Given the description of an element on the screen output the (x, y) to click on. 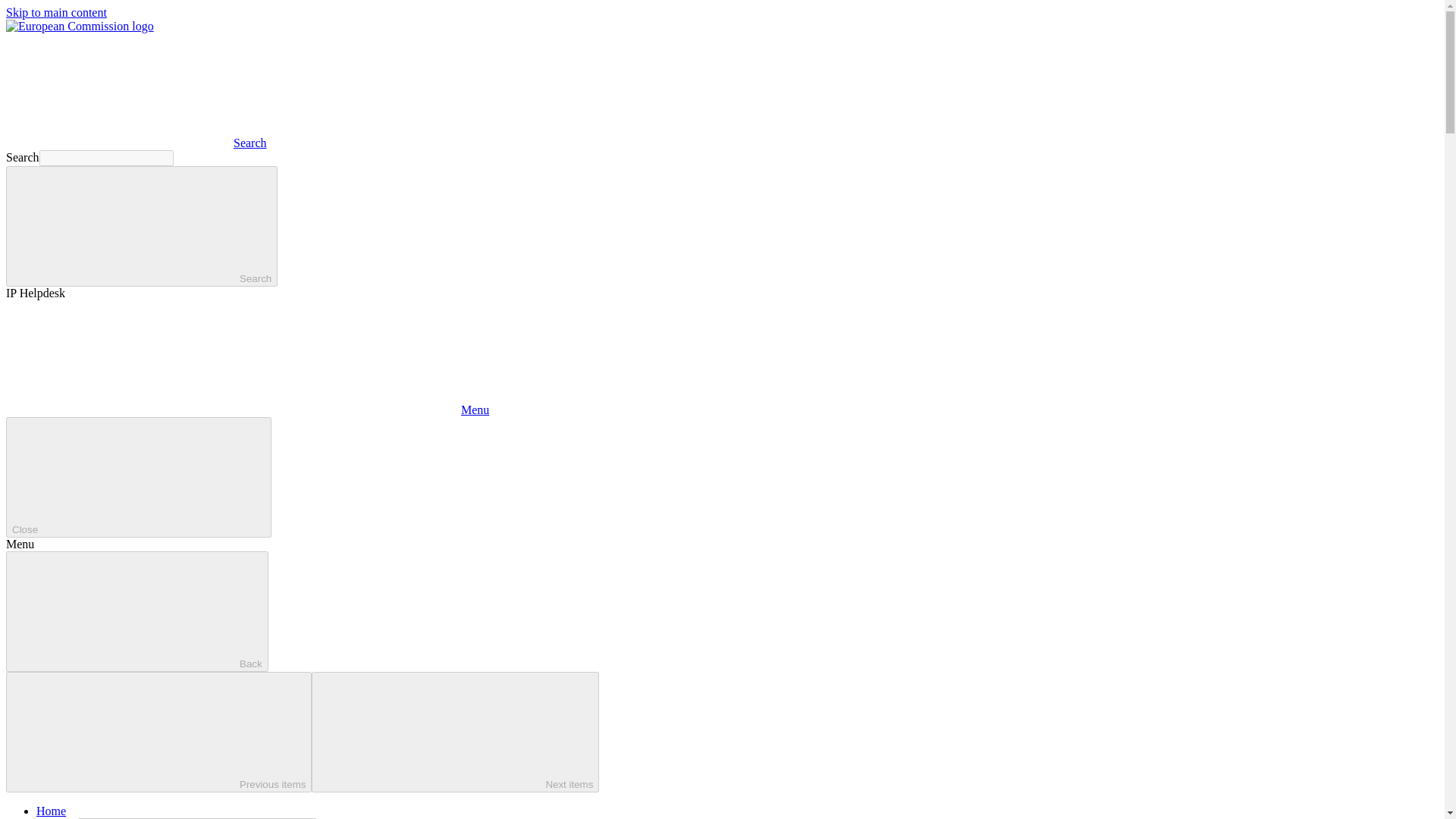
Home (50, 810)
Close (137, 476)
Next items (454, 731)
European Commission (79, 25)
Search (135, 142)
Back (136, 611)
Skip to main content (55, 11)
Previous items (158, 731)
Search (141, 226)
Menu (247, 409)
